Given the description of an element on the screen output the (x, y) to click on. 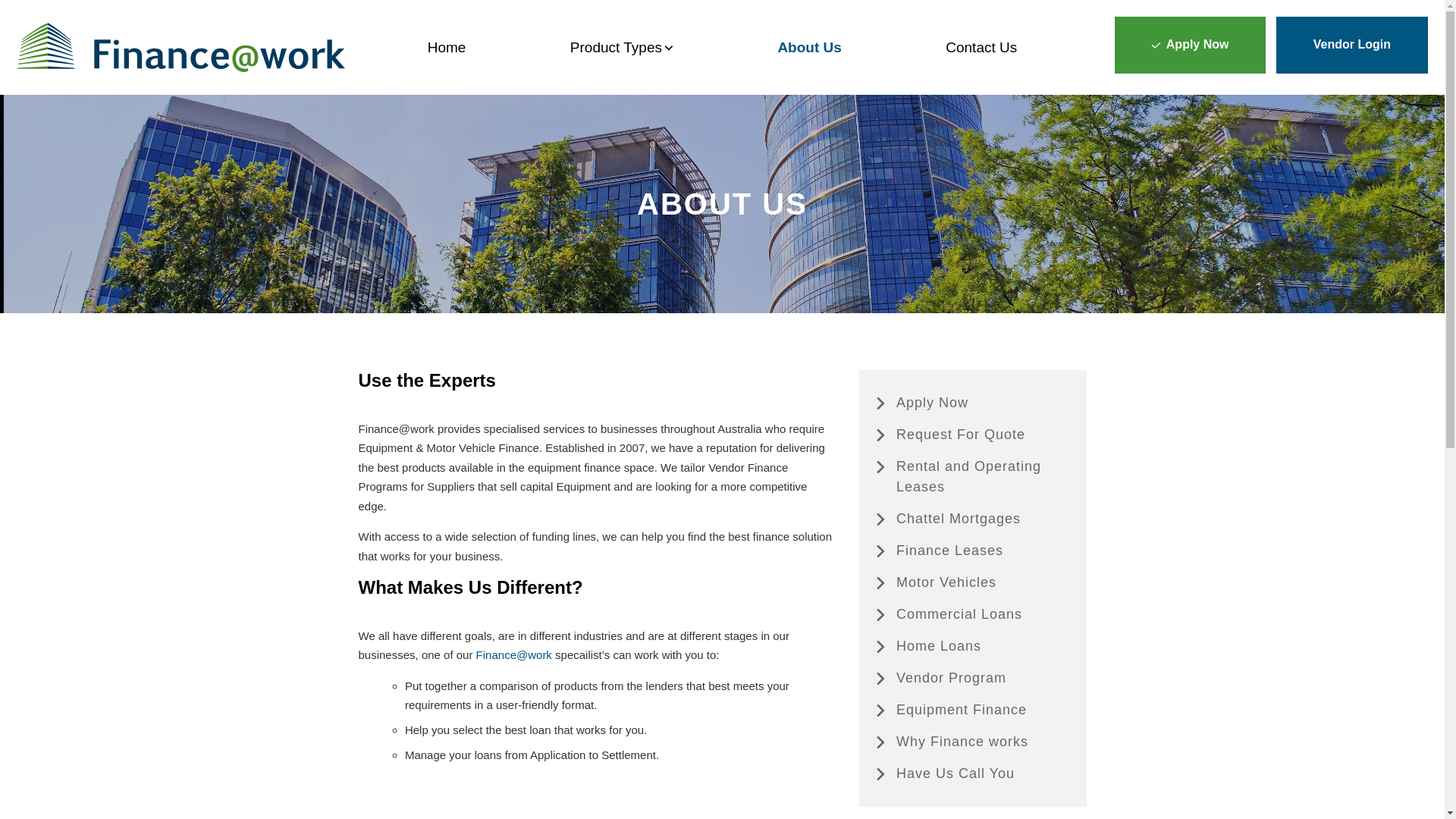
Commercial Loans Element type: text (972, 614)
Vendor Login Element type: text (1351, 44)
Product Types Element type: text (621, 47)
Apply Now Element type: text (972, 402)
Home Element type: text (446, 47)
Request For Quote Element type: text (972, 434)
Rental and Operating Leases Element type: text (972, 476)
Why Finance works Element type: text (972, 741)
About Us Element type: text (808, 47)
Home Loans Element type: text (972, 646)
Finance Leases Element type: text (972, 550)
Apply Now Element type: text (1189, 44)
Chattel Mortgages Element type: text (972, 518)
Contact Us Element type: text (980, 47)
Vendor Program Element type: text (972, 678)
Have Us Call You Element type: text (972, 773)
Equipment Finance Element type: text (972, 709)
Motor Vehicles Element type: text (972, 582)
Finance@work Element type: text (514, 654)
